Given the description of an element on the screen output the (x, y) to click on. 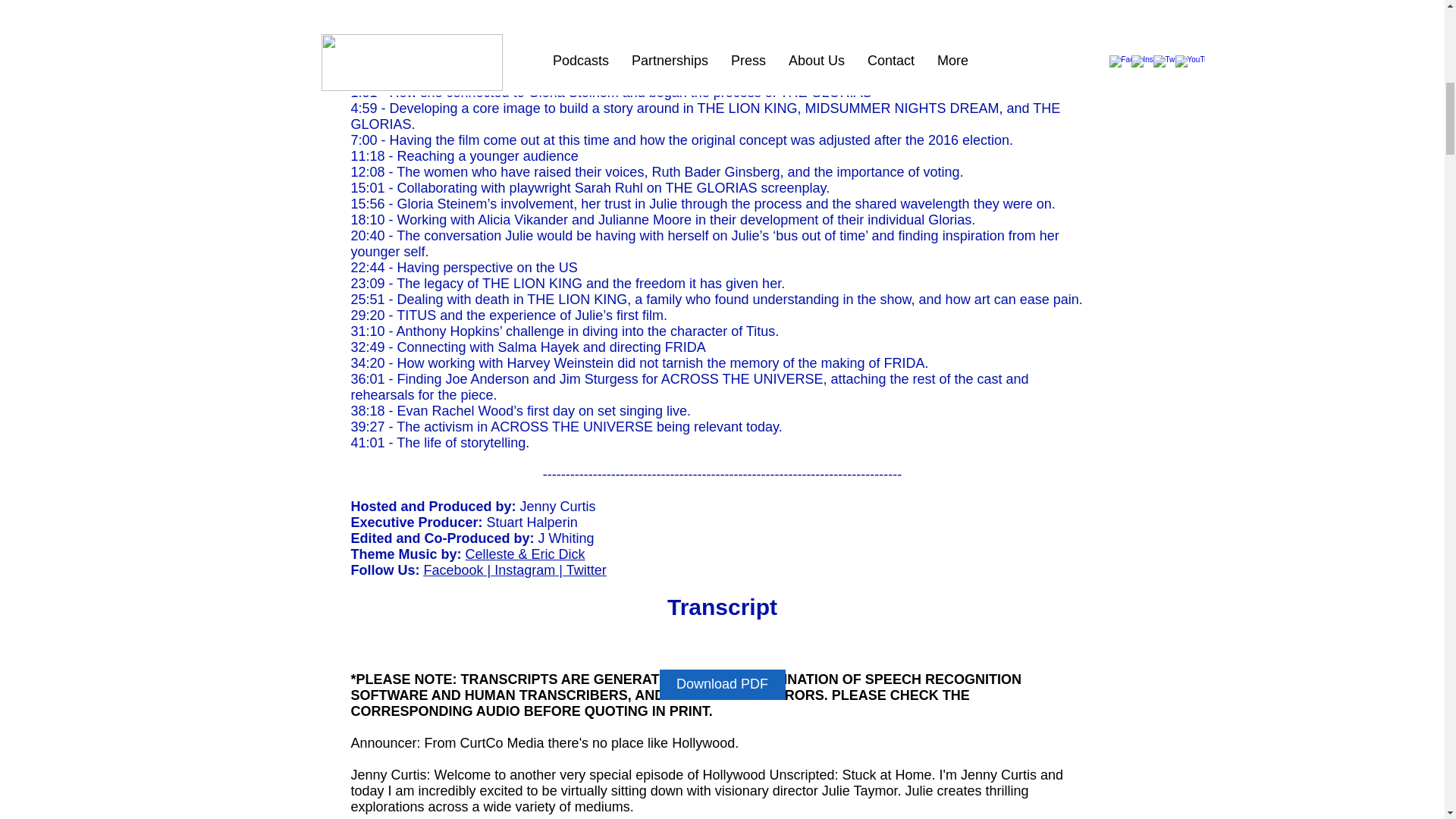
Instagram (522, 570)
Facebook (453, 570)
Download PDF (722, 684)
Twitter (586, 570)
